Given the description of an element on the screen output the (x, y) to click on. 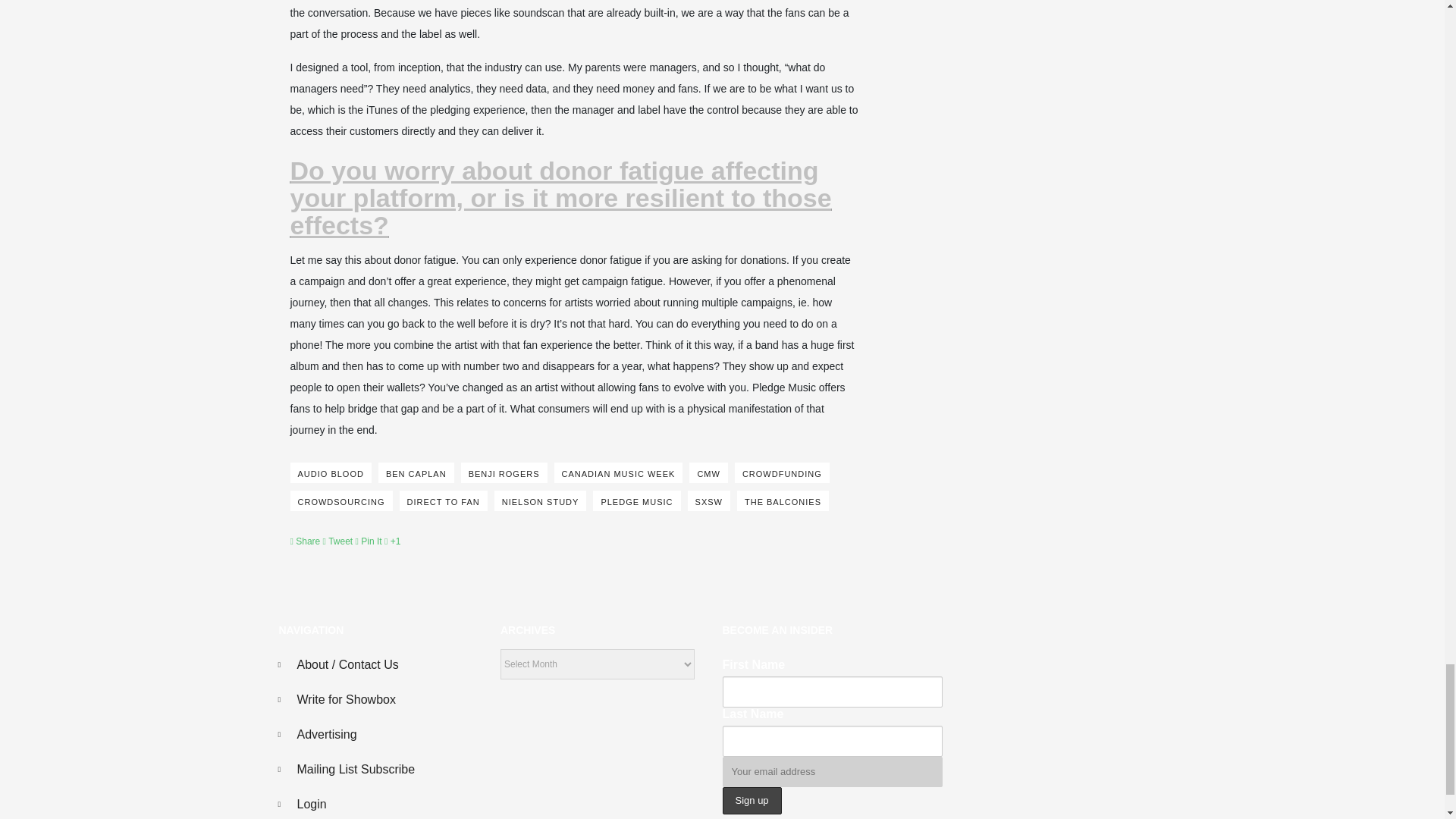
Sign up (751, 800)
